Given the description of an element on the screen output the (x, y) to click on. 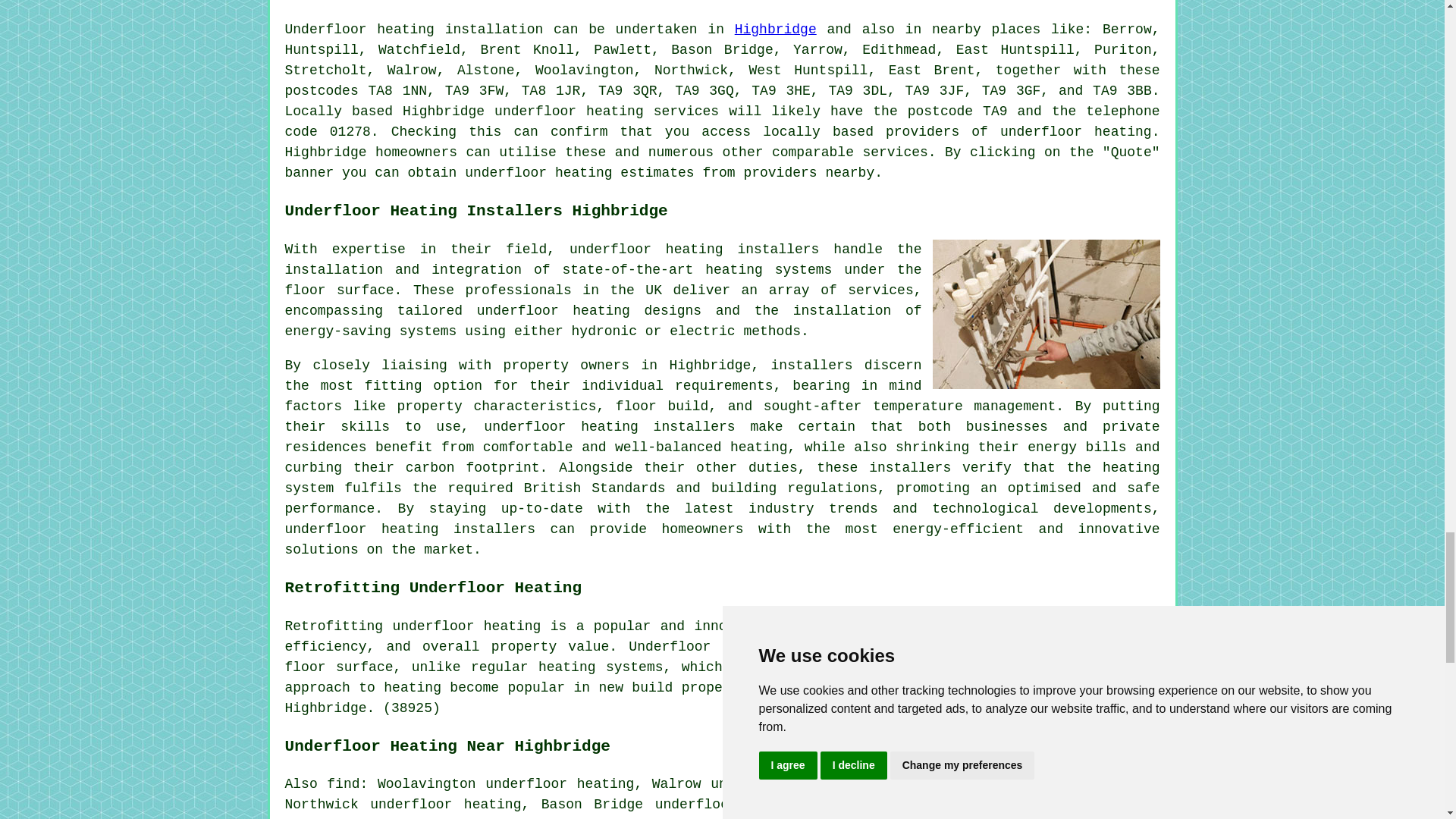
Underfloor Heating Installation Highbridge (1046, 314)
underfloor heating installers (693, 249)
Underfloor heating installation (414, 29)
underfloor heating (1075, 131)
underfloor heating services (607, 111)
